Given the description of an element on the screen output the (x, y) to click on. 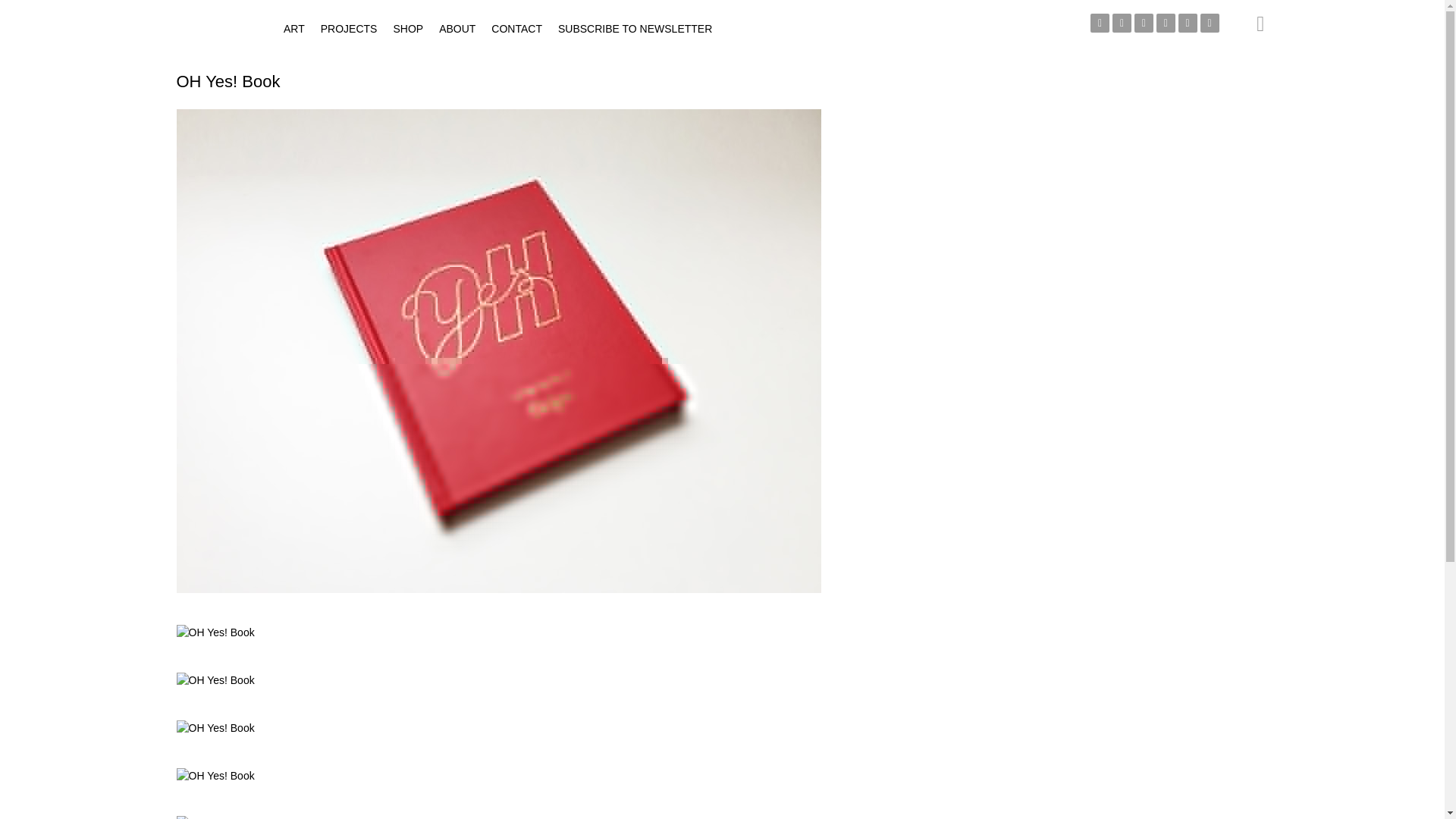
SUBSCRIBE TO NEWSLETTER (634, 29)
ART (294, 29)
PROJECTS (349, 29)
ABOUT (456, 29)
CONTACT (516, 29)
SHOP (407, 29)
